Given the description of an element on the screen output the (x, y) to click on. 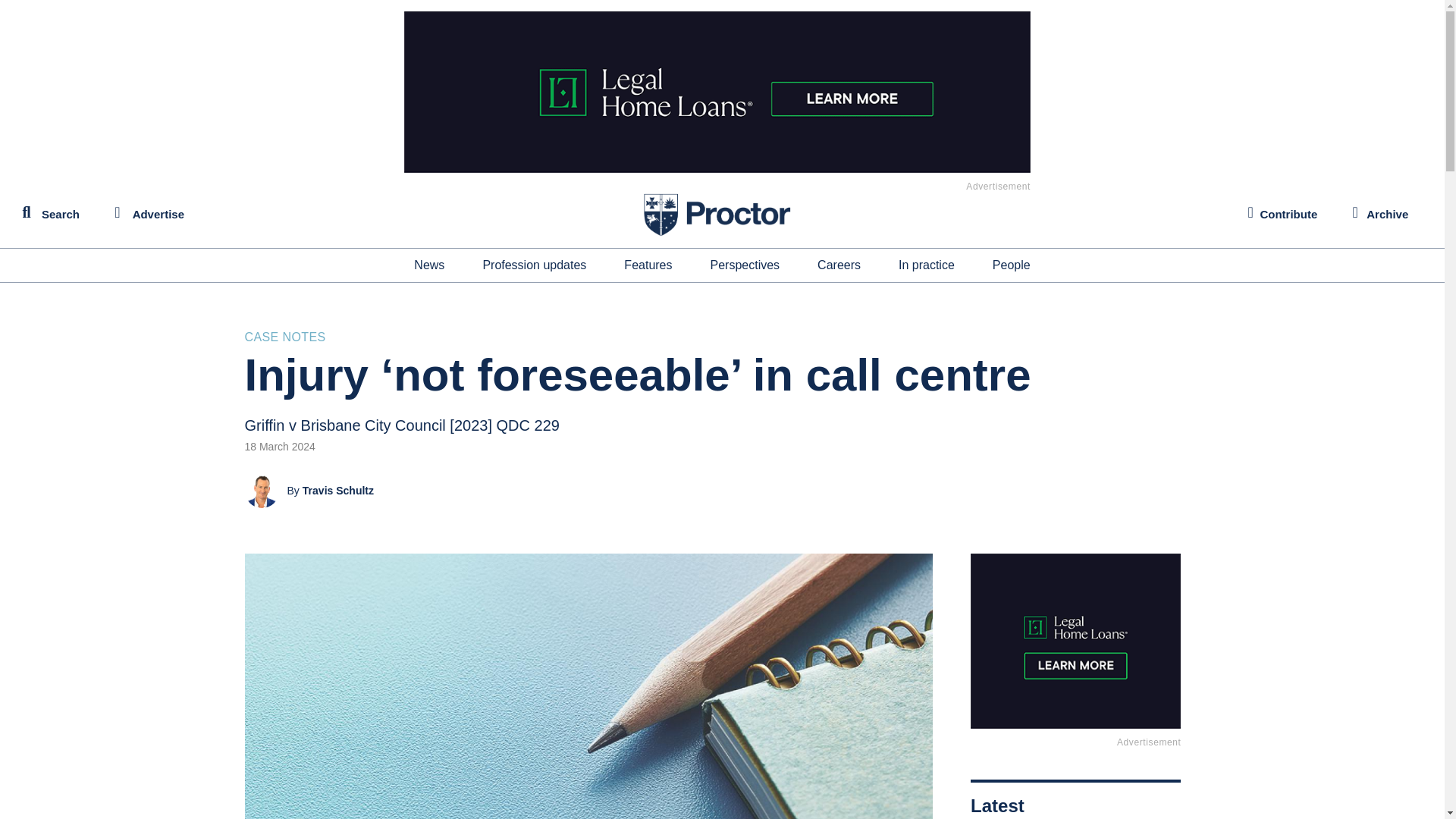
Features (647, 264)
Careers (838, 264)
Perspectives (745, 264)
People (1011, 264)
Profession updates (534, 264)
News (428, 264)
In practice (926, 264)
